Given the description of an element on the screen output the (x, y) to click on. 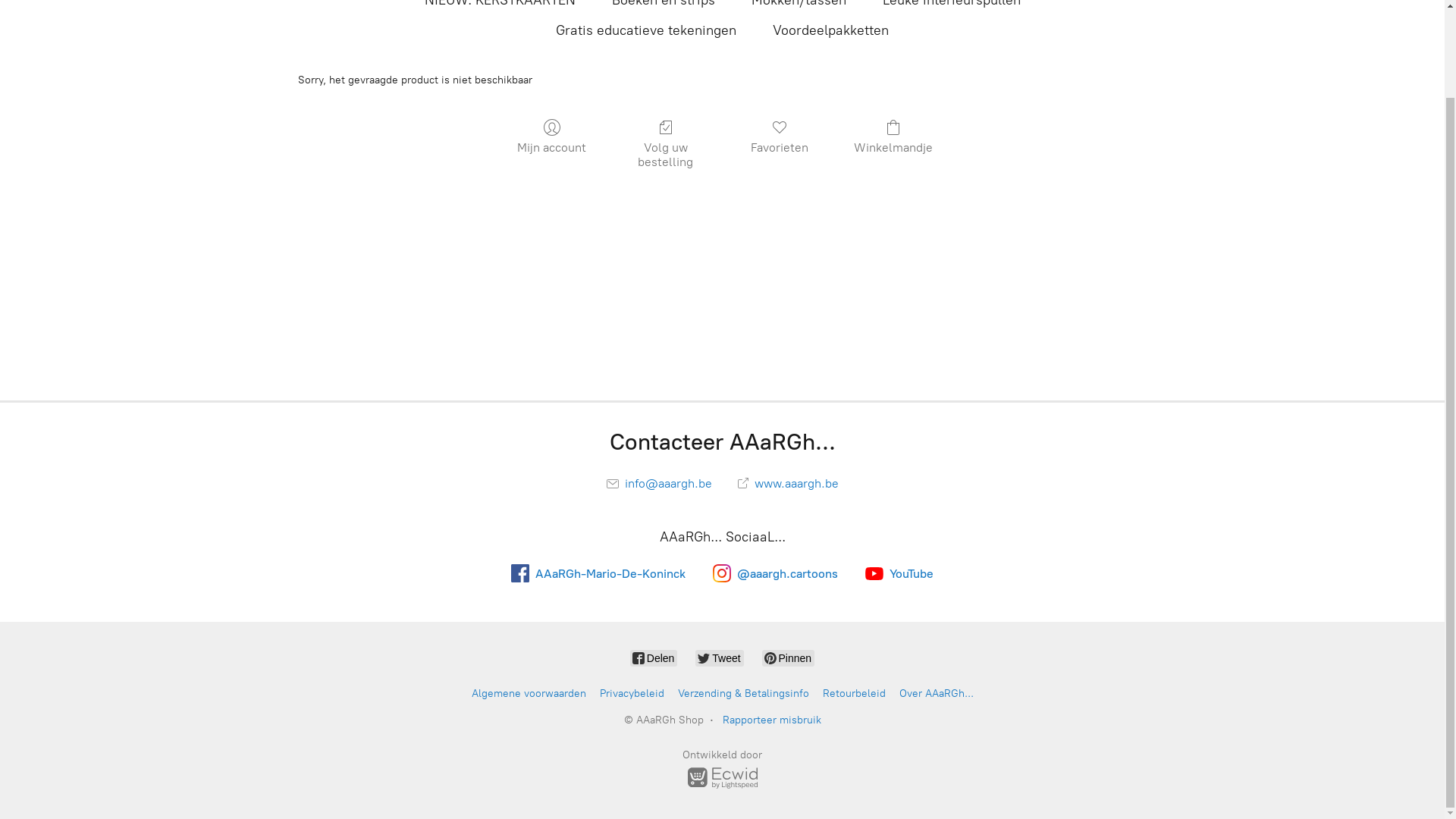
info@aaargh.be Element type: text (659, 582)
Volg uw bestelling Element type: text (664, 242)
NIEUW: KERSTKAARTEN Element type: text (499, 99)
Voordeelpakketten Element type: text (830, 129)
Pinnen Element type: text (788, 757)
AAaRGh-Mario-De-Koninck Element type: text (598, 672)
Over AAaRGh... Element type: text (936, 792)
Retourbeleid Element type: text (853, 792)
Favorieten Element type: text (779, 235)
Boeken en strips Element type: text (662, 99)
Gratis educatieve tekeningen Element type: text (645, 129)
Mijn account Element type: text (551, 235)
@aaargh.cartoons Element type: text (774, 672)
Winkelmandje Element type: text (893, 235)
Privacybeleid Element type: text (631, 792)
Verzending & Betalingsinfo Element type: text (743, 792)
Leuke interieurspullen Element type: text (951, 99)
Algemene voorwaarden Element type: text (528, 792)
Delen Element type: text (653, 757)
YouTube Element type: text (899, 672)
Mokken/tassen Element type: text (797, 99)
Tweet Element type: text (719, 757)
www.aaargh.be Element type: text (787, 582)
